Given the description of an element on the screen output the (x, y) to click on. 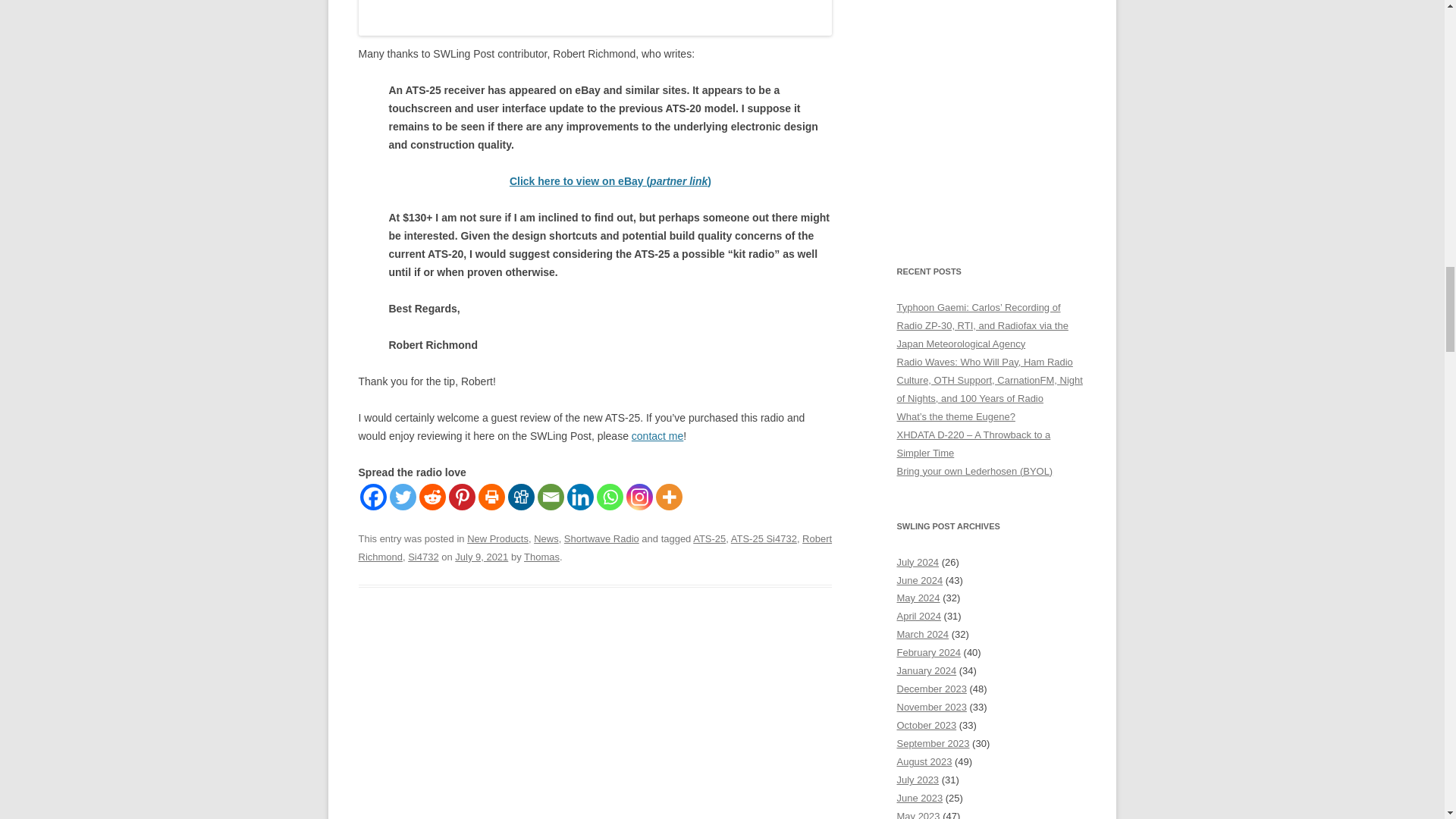
Facebook (372, 497)
Twitter (403, 497)
